Given the description of an element on the screen output the (x, y) to click on. 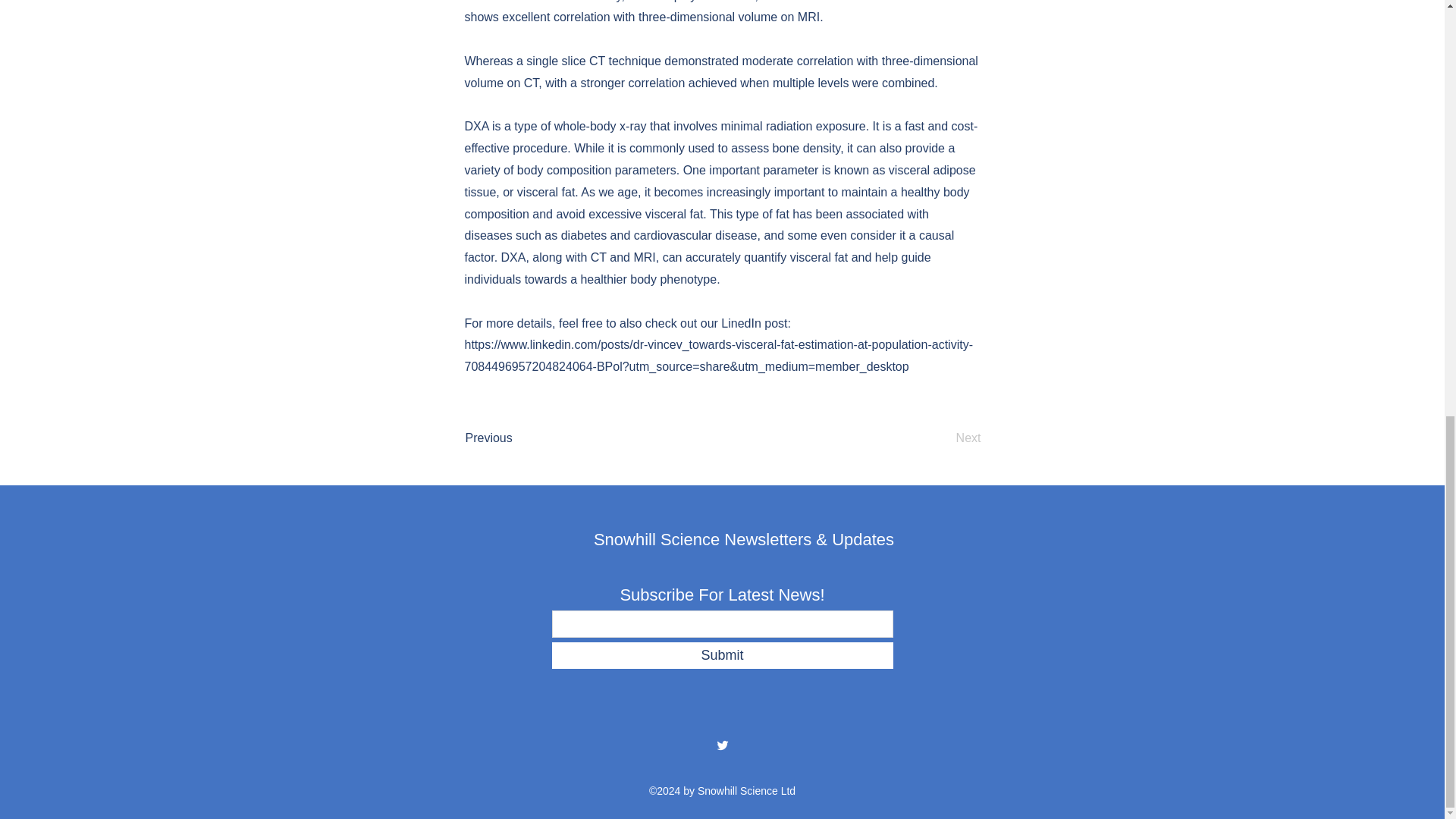
Submit (722, 655)
Previous (515, 438)
Next (943, 438)
